Given the description of an element on the screen output the (x, y) to click on. 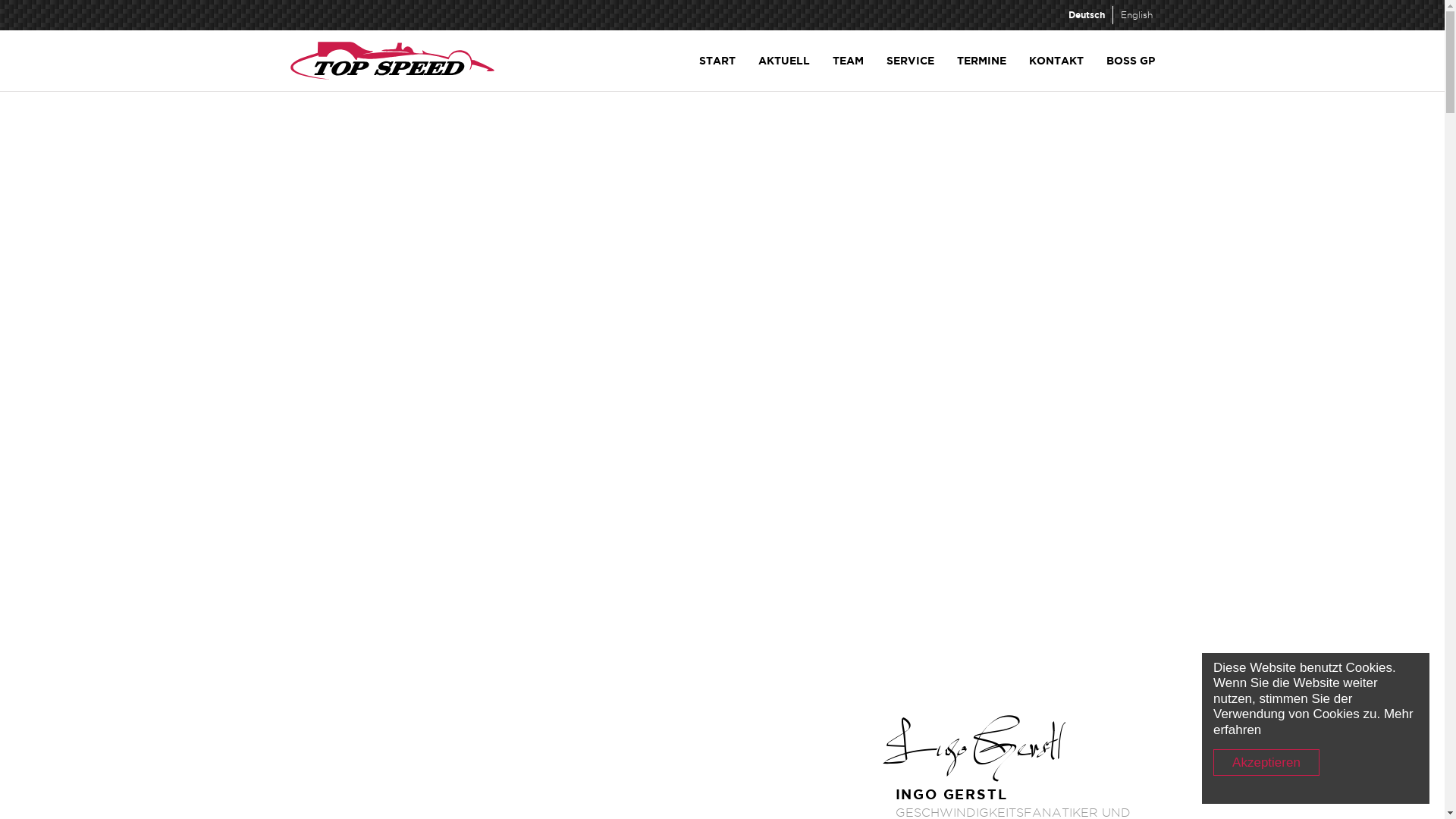
KONTAKT Element type: text (1056, 60)
TERMINE Element type: text (980, 60)
English Element type: text (1136, 15)
Mehr erfahren Element type: text (1313, 721)
AKTUELL Element type: text (783, 60)
SERVICE Element type: text (910, 60)
TEAM Element type: text (847, 60)
Akzeptieren Element type: text (1266, 762)
BOSS GP Element type: text (1130, 60)
Deutsch Element type: text (1085, 15)
START Element type: text (716, 60)
